Given the description of an element on the screen output the (x, y) to click on. 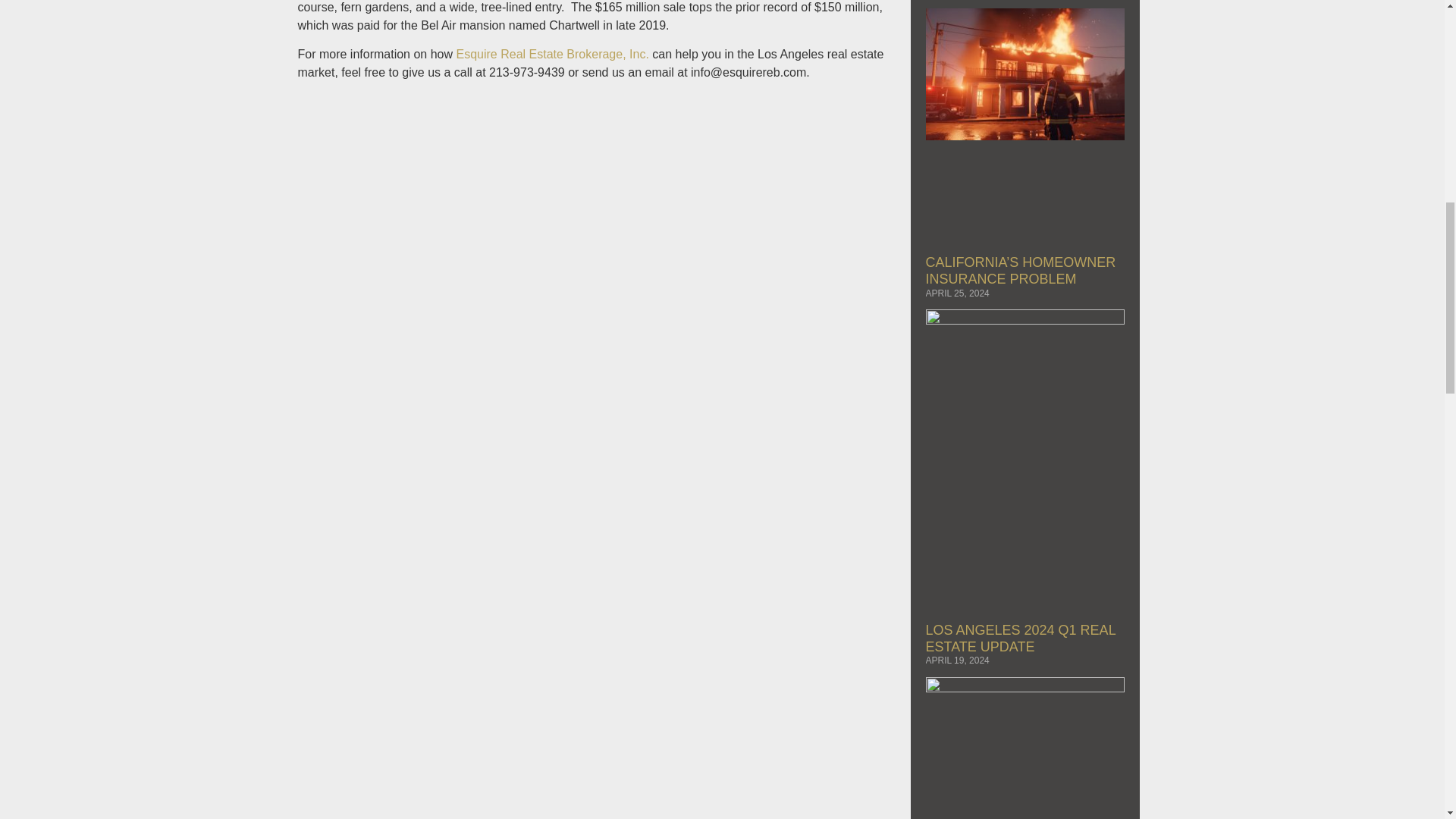
Esquire Real Estate Brokerage, Inc. (551, 53)
LOS ANGELES 2024 Q1 REAL ESTATE UPDATE (1019, 638)
Esquire Real Estate Brokerage, Inc. (551, 53)
